Given the description of an element on the screen output the (x, y) to click on. 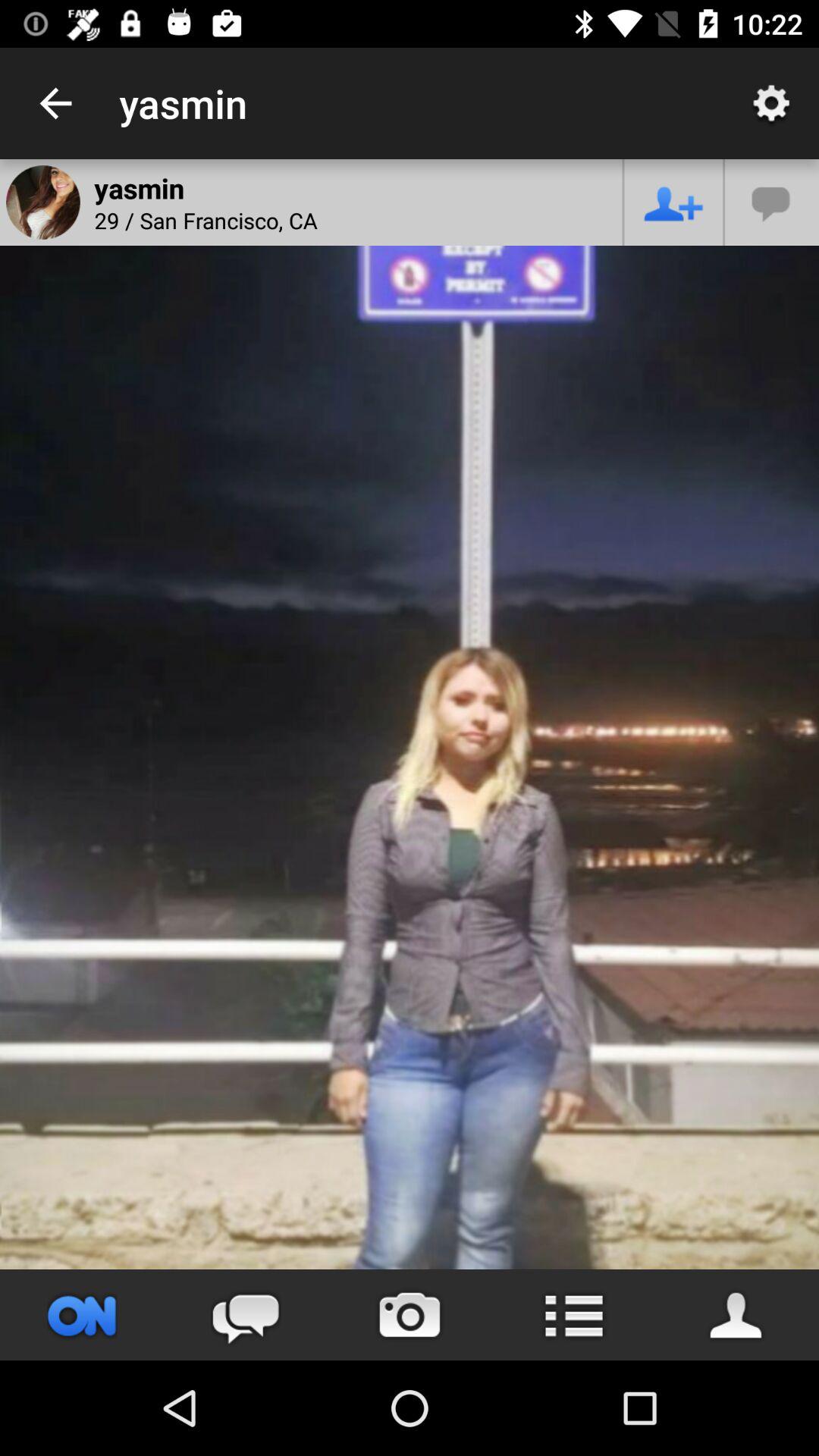
open item to the left of the yasmin app (55, 103)
